Given the description of an element on the screen output the (x, y) to click on. 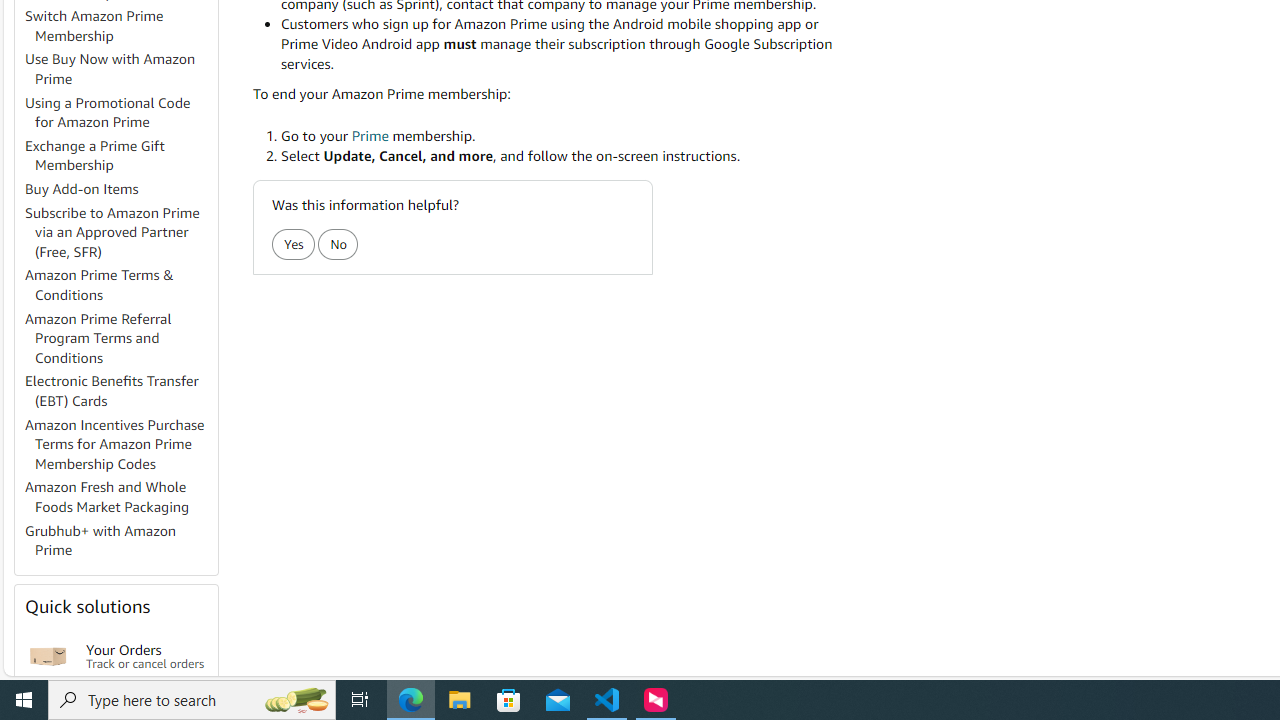
Buy Add-on Items (120, 190)
Electronic Benefits Transfer (EBT) Cards (111, 390)
Amazon Prime Terms & Conditions (120, 285)
Your Orders (48, 655)
Using a Promotional Code for Amazon Prime (107, 111)
Your Orders (48, 655)
Amazon Prime Referral Program Terms and Conditions (120, 338)
Switch Amazon Prime Membership (120, 26)
Exchange a Prime Gift Membership (120, 156)
Grubhub+ with Amazon Prime (100, 540)
